Given the description of an element on the screen output the (x, y) to click on. 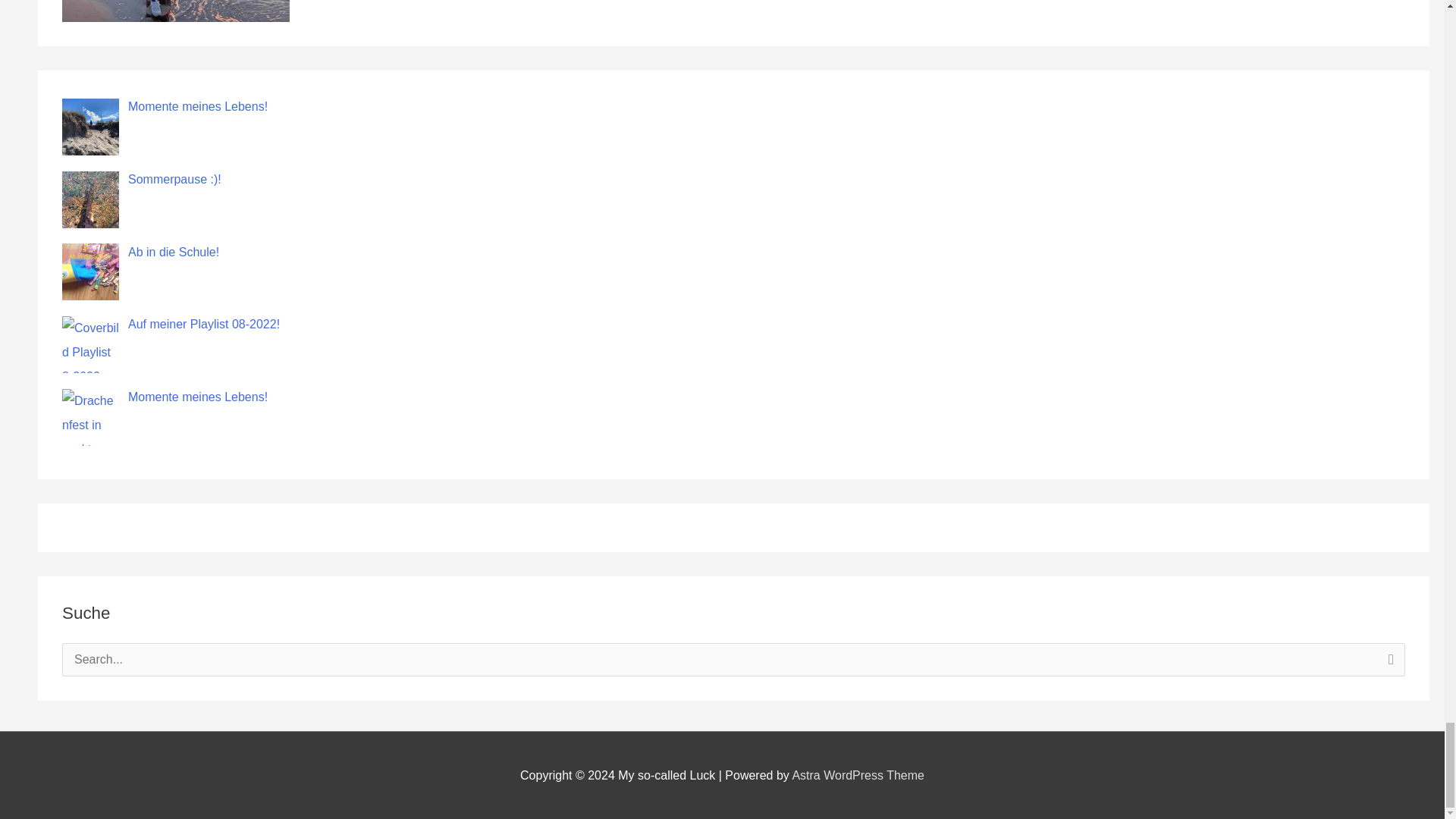
Auf meiner Playlist 08-2022! (203, 323)
Hallo! (175, 11)
Astra WordPress Theme (858, 775)
Ab in die Schule! (173, 251)
Momente meines Lebens! (197, 396)
Momente meines Lebens! (197, 106)
